Given the description of an element on the screen output the (x, y) to click on. 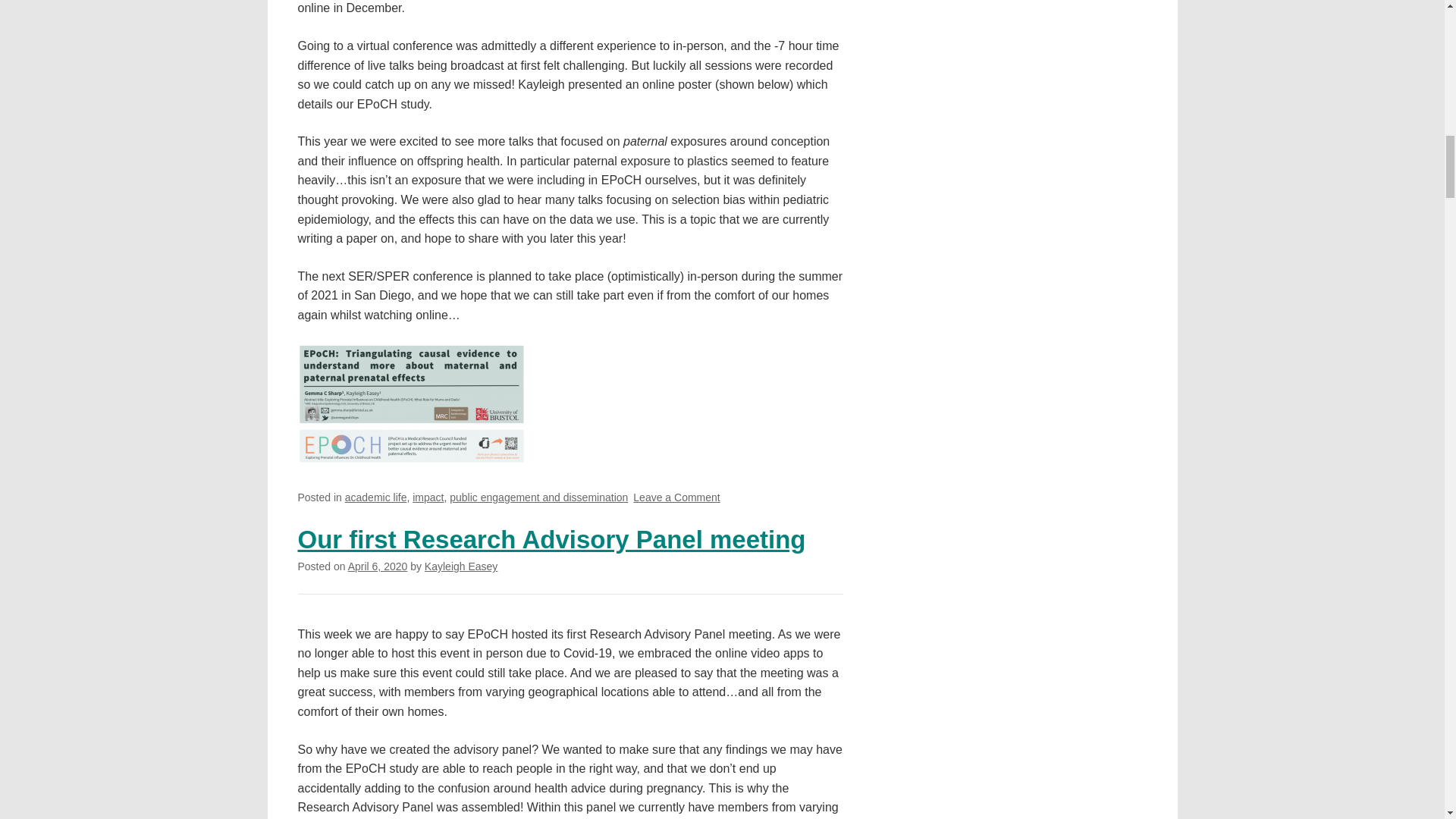
Our first Research Advisory Panel meeting (551, 539)
public engagement and dissemination (538, 497)
April 6, 2020 (377, 566)
impact (428, 497)
academic life (376, 497)
Kayleigh Easey (461, 566)
